Given the description of an element on the screen output the (x, y) to click on. 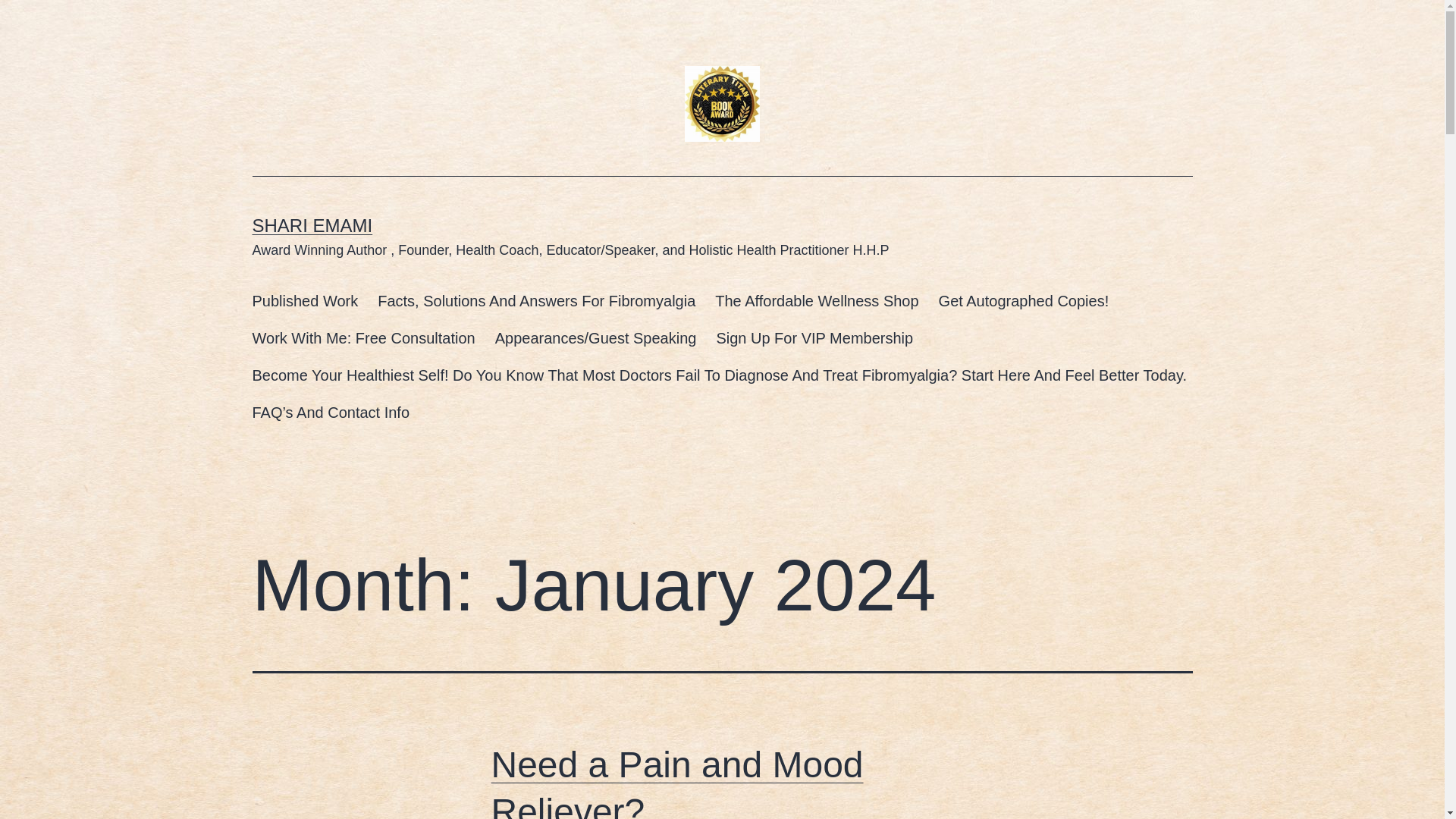
SHARI EMAMI (311, 225)
Sign Up For VIP Membership (814, 338)
Published Work (305, 301)
Get Autographed Copies! (1023, 301)
Work With Me: Free Consultation (363, 338)
The Affordable Wellness Shop (816, 301)
Need a Pain and Mood Reliever? (677, 781)
Facts, Solutions And Answers For Fibromyalgia (536, 301)
